Given the description of an element on the screen output the (x, y) to click on. 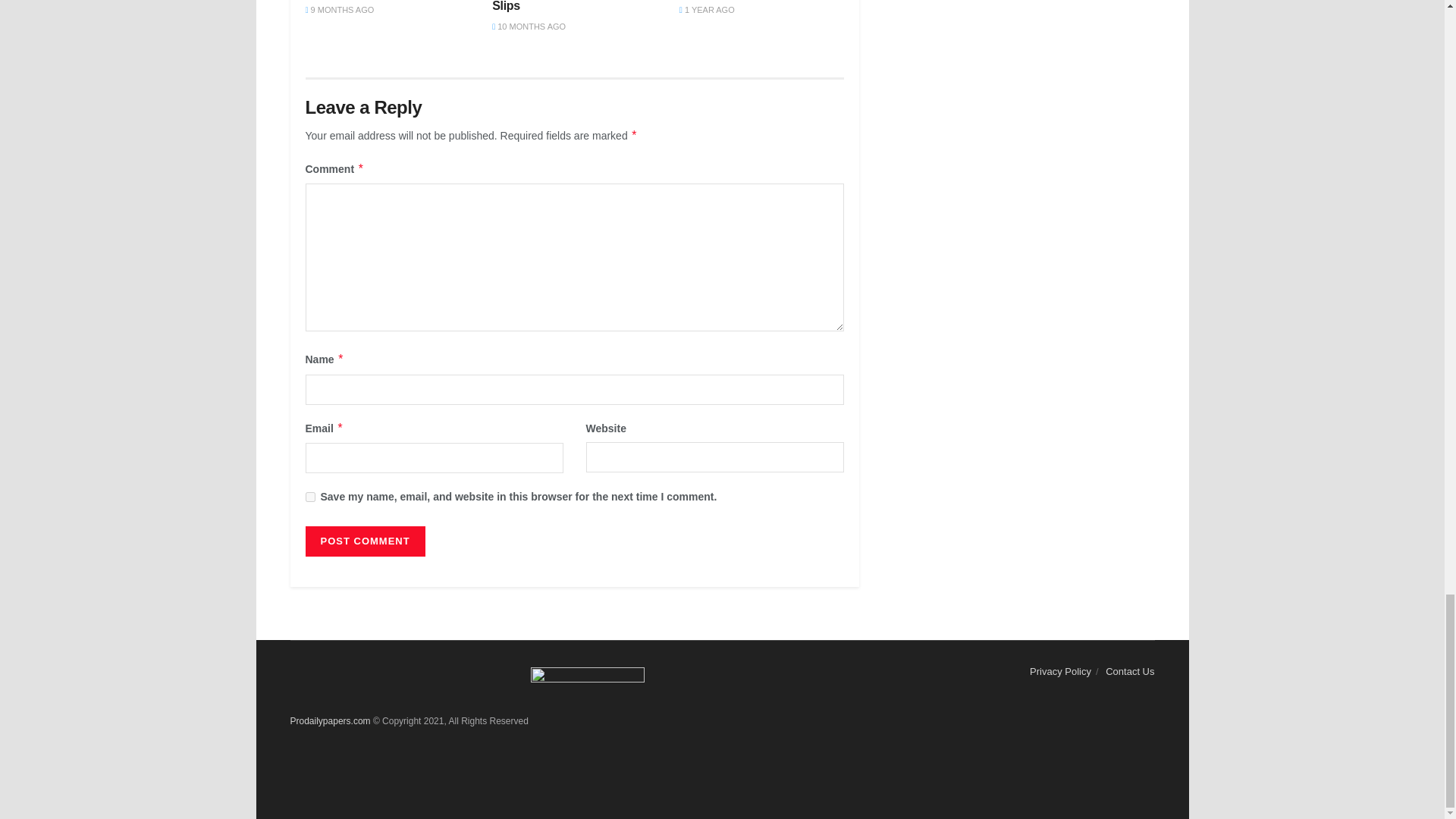
Post Comment (364, 541)
yes (309, 497)
